Given the description of an element on the screen output the (x, y) to click on. 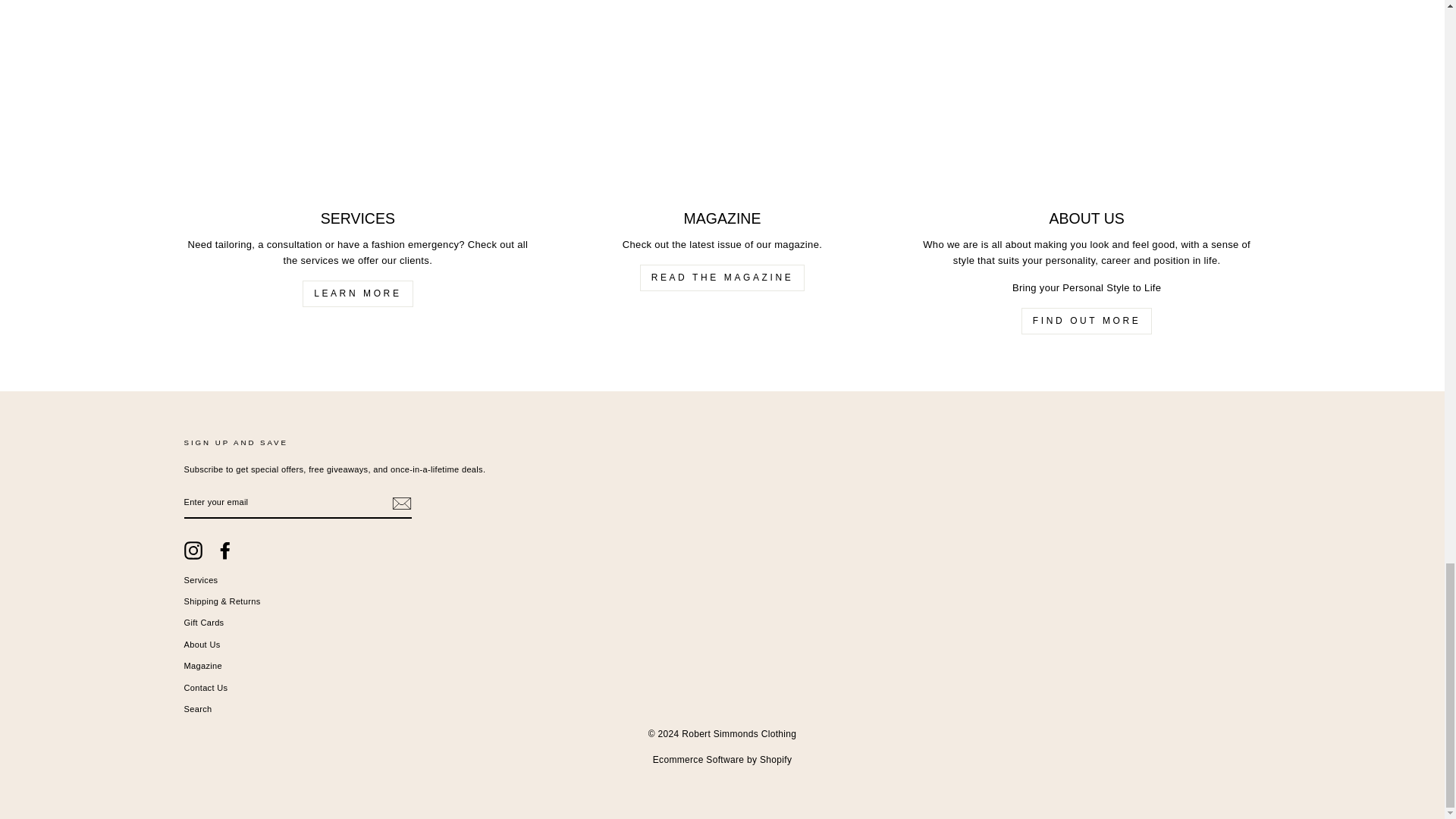
Robert Simmonds Clothing on Facebook (224, 550)
Robert Simmonds Clothing on Instagram (192, 550)
